Given the description of an element on the screen output the (x, y) to click on. 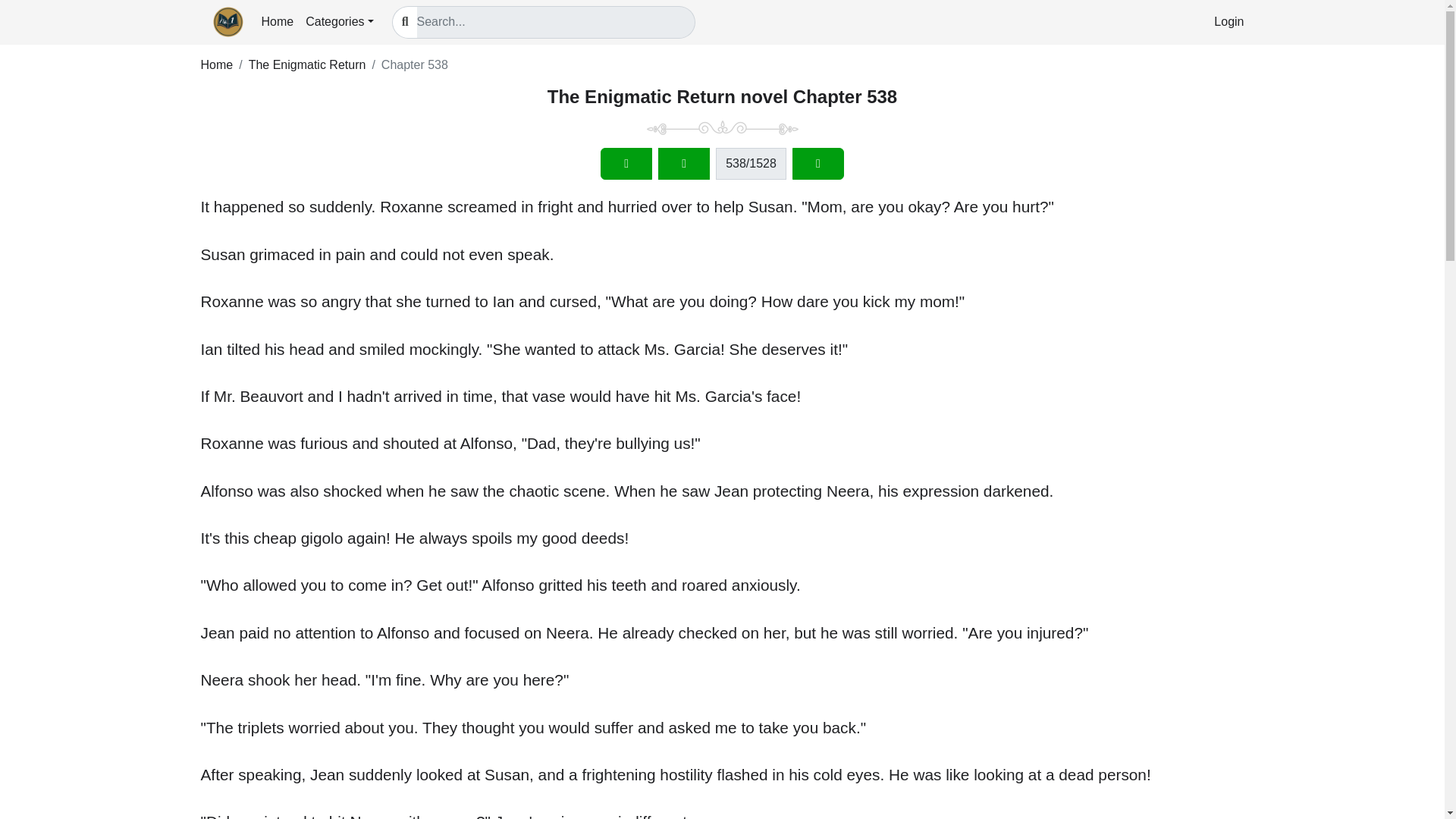
Home (216, 64)
The Enigmatic Return (307, 64)
Login (1228, 21)
Next chapter (818, 163)
Chapter 538 (414, 64)
Chapter list (684, 163)
Home (276, 21)
Previous chapter (625, 163)
Categories (338, 21)
